Given the description of an element on the screen output the (x, y) to click on. 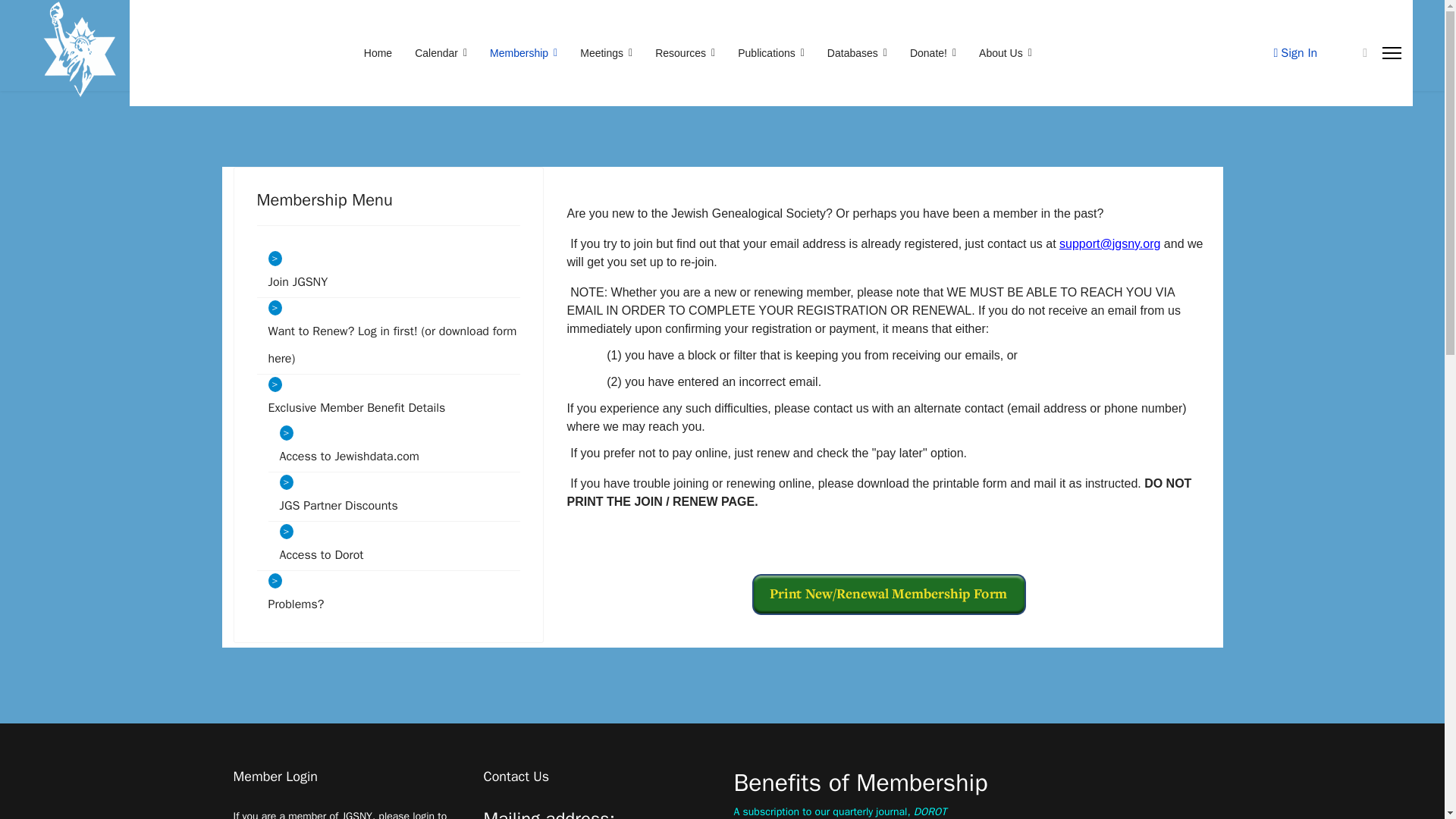
Databases (856, 52)
Membership (524, 52)
Resources (684, 52)
Publications (770, 52)
